Given the description of an element on the screen output the (x, y) to click on. 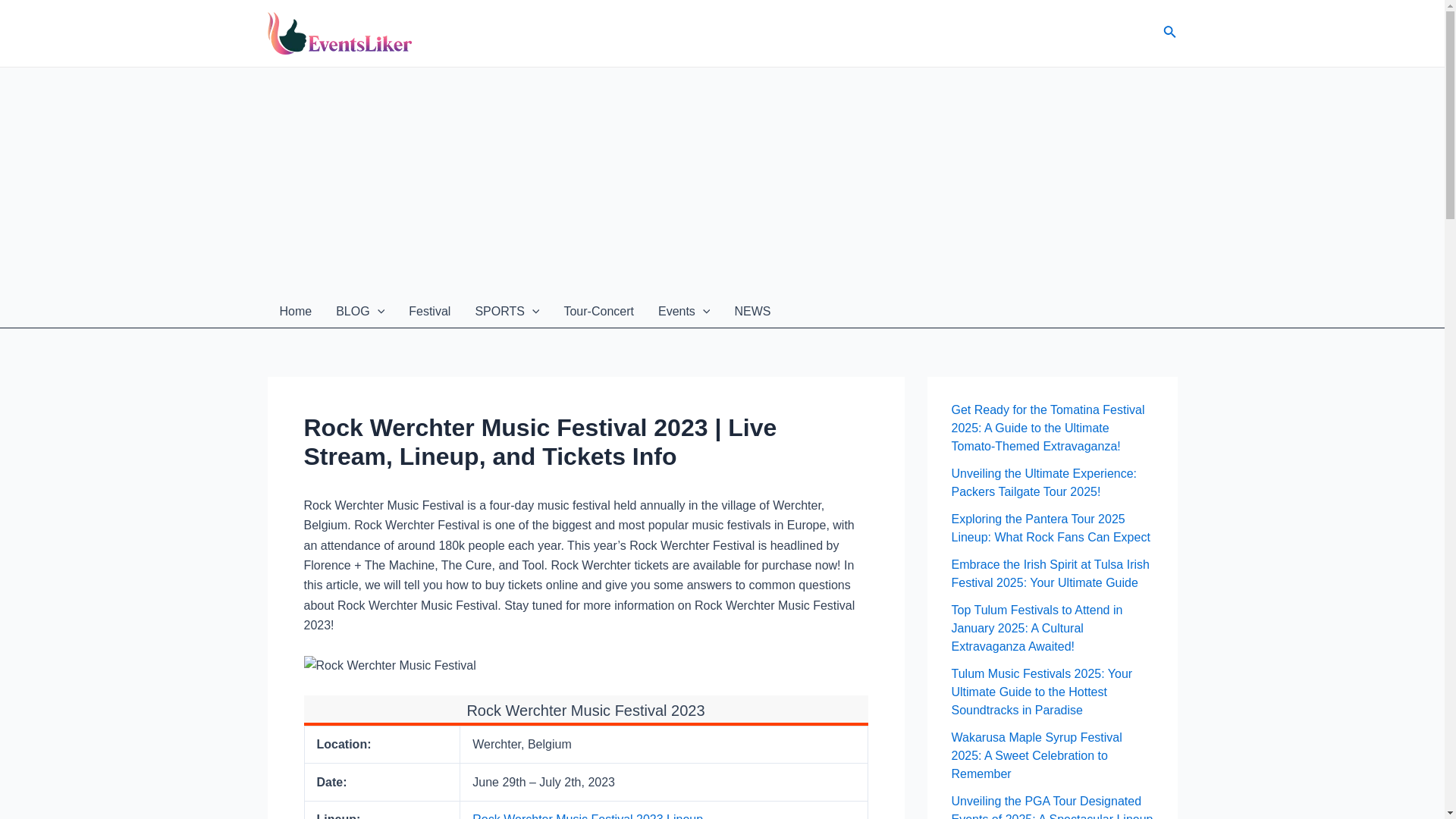
SPORTS (507, 310)
NEWS (752, 310)
BLOG (359, 310)
Rock Werchter Music Festival 2023 Lineup (587, 816)
Home (294, 310)
Festival (429, 310)
Events (684, 310)
Tour-Concert (598, 310)
